Given the description of an element on the screen output the (x, y) to click on. 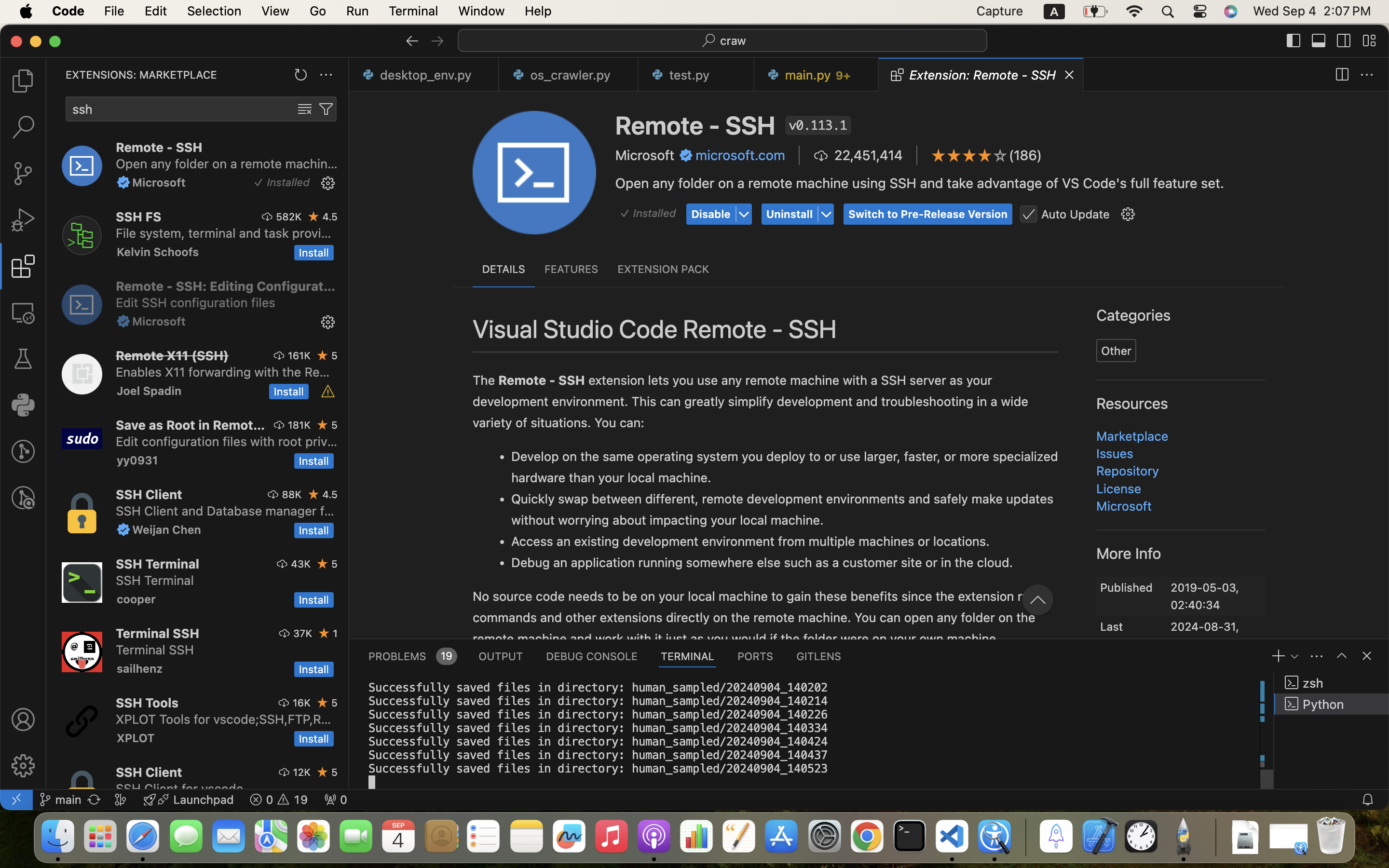
 Element type: AXStaticText (953, 154)
 Element type: AXStaticText (999, 154)
yy0931 Element type: AXStaticText (137, 459)
Remote - SSH: Editing Configuration Files Element type: AXStaticText (225, 285)
 0 Element type: AXButton (335, 799)
